Given the description of an element on the screen output the (x, y) to click on. 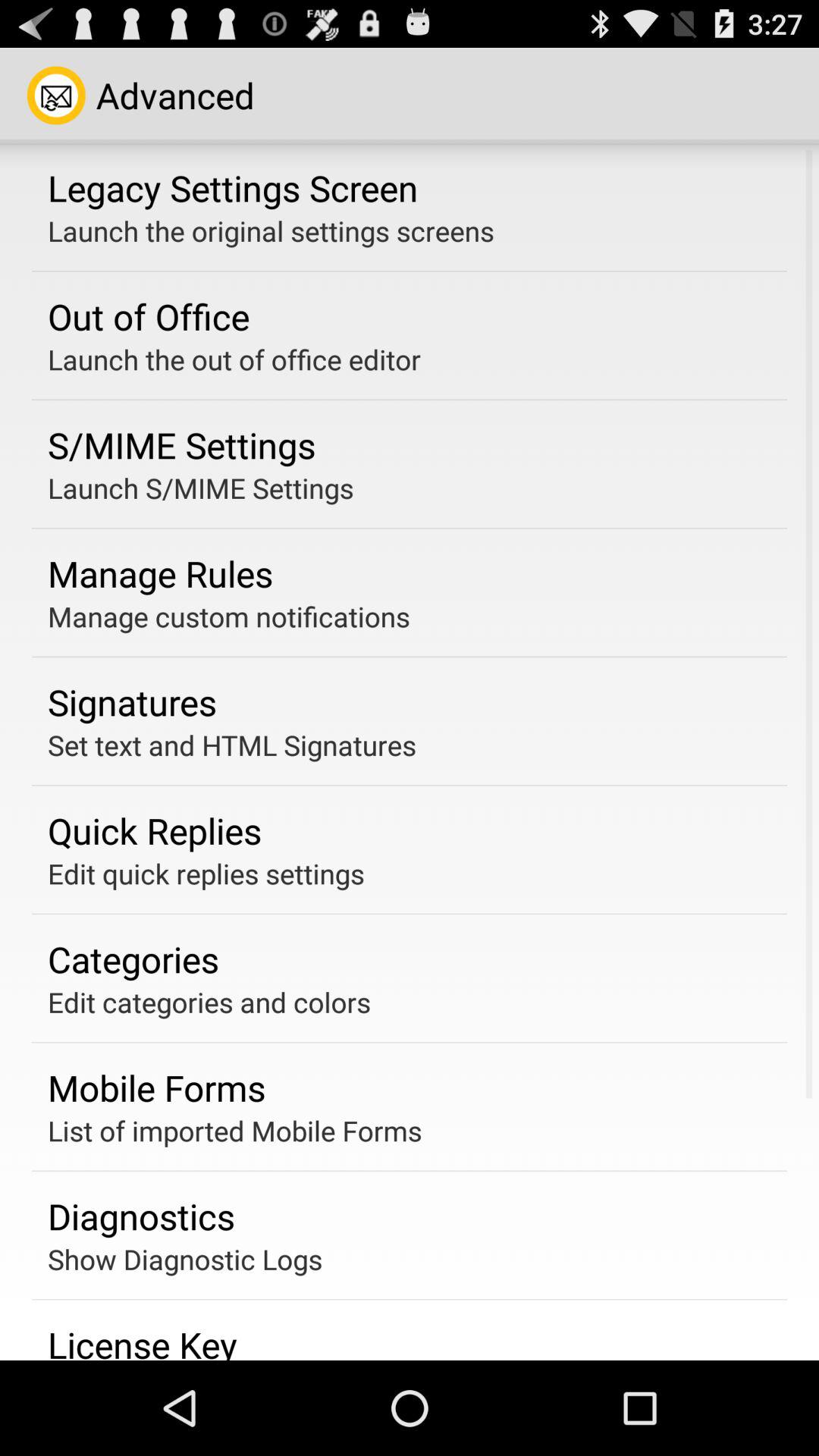
swipe until the license key app (142, 1340)
